Given the description of an element on the screen output the (x, y) to click on. 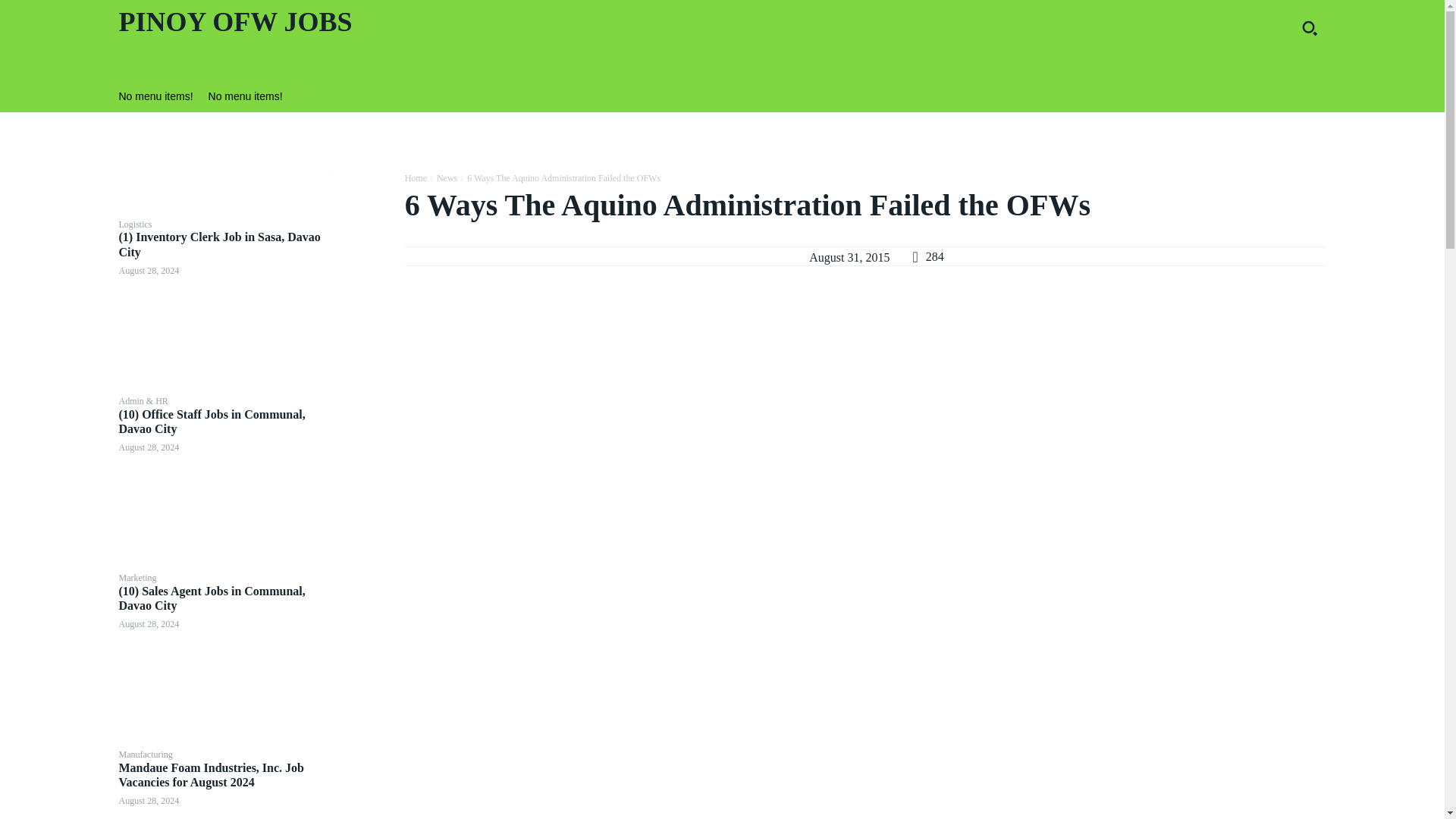
Mandaue Foam Industries, Inc. Job Vacancies for August 2024 (209, 774)
PINOY OFW JOBS (410, 22)
Manufacturing (144, 754)
Home (415, 177)
Mandaue Foam Industries, Inc. Job Vacancies for August 2024 (223, 784)
Marketing (136, 577)
News (446, 177)
Mandaue Foam Industries, Inc. Job Vacancies for August 2024 (209, 774)
Logistics (134, 224)
